Given the description of an element on the screen output the (x, y) to click on. 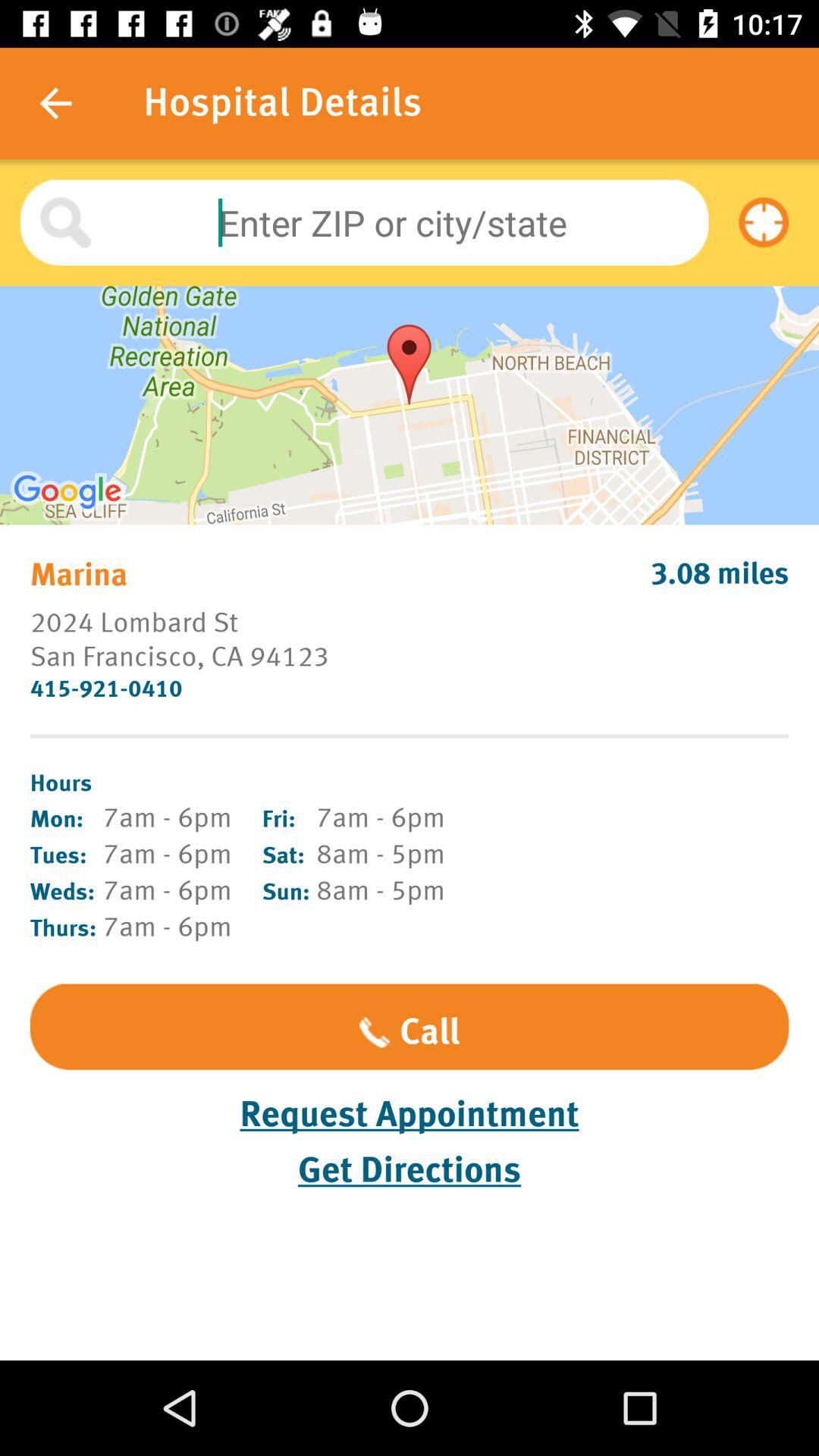
enter zip or city slash state (364, 222)
